Given the description of an element on the screen output the (x, y) to click on. 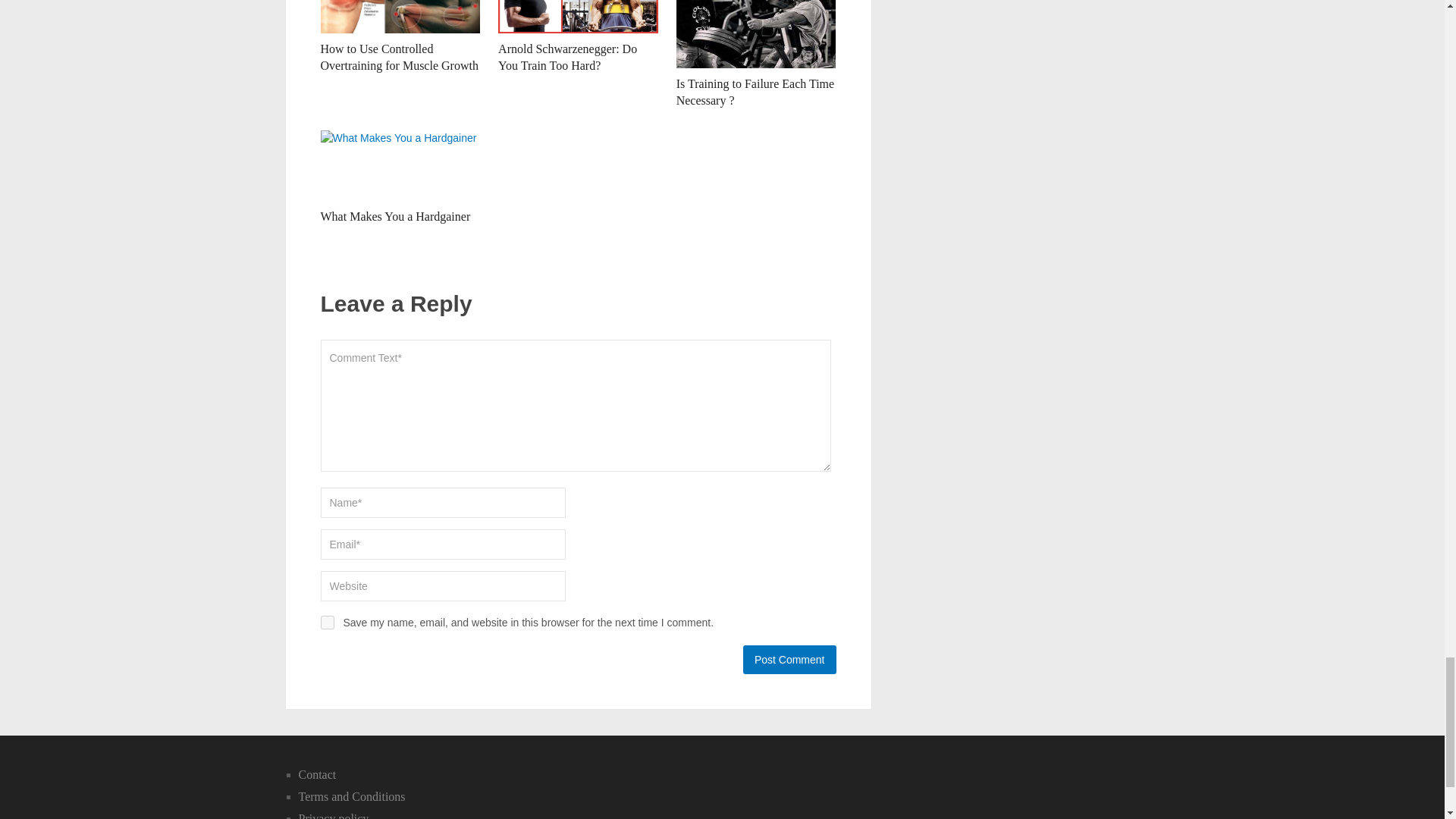
yes (326, 622)
How to Use Controlled Overtraining for Muscle Growth (400, 16)
Arnold Schwarzenegger: Do You Train Too Hard? (577, 16)
Is Training to Failure Each Time Necessary ? (756, 33)
How to Use Controlled Overtraining for Muscle Growth (398, 57)
Post Comment (788, 659)
What Makes You a Hardgainer (400, 165)
Arnold Schwarzenegger: Do You Train Too Hard? (567, 57)
Is Training to Failure Each Time Necessary ? (755, 91)
